Given the description of an element on the screen output the (x, y) to click on. 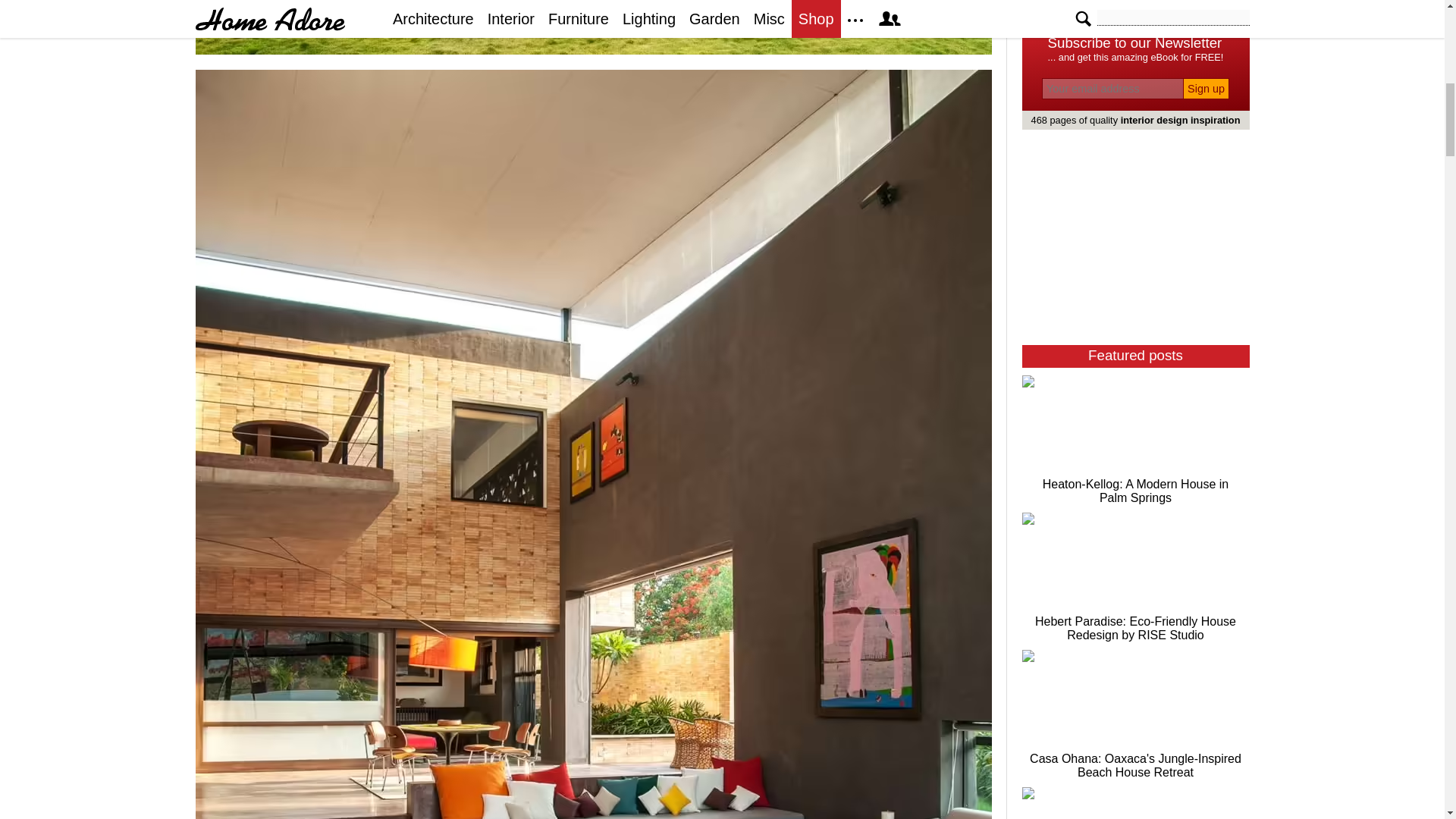
Sign up (1205, 88)
